Given the description of an element on the screen output the (x, y) to click on. 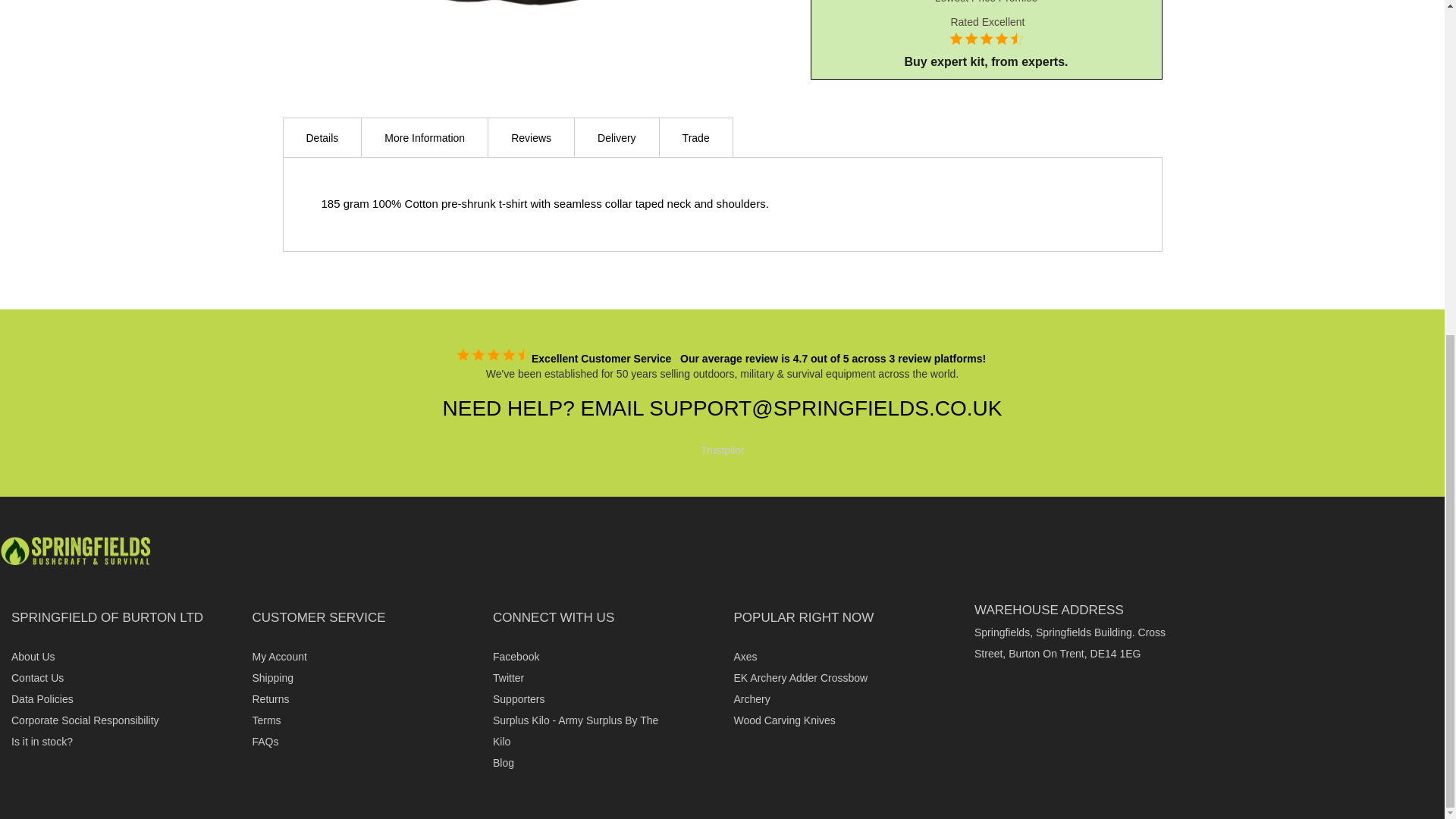
Advanced Search (264, 741)
Facebook (515, 656)
Surplus Kilo (575, 730)
Terms (266, 720)
Twitter (508, 677)
Returns (269, 698)
My Account (278, 656)
Supporters (518, 698)
Shipping (272, 677)
